Given the description of an element on the screen output the (x, y) to click on. 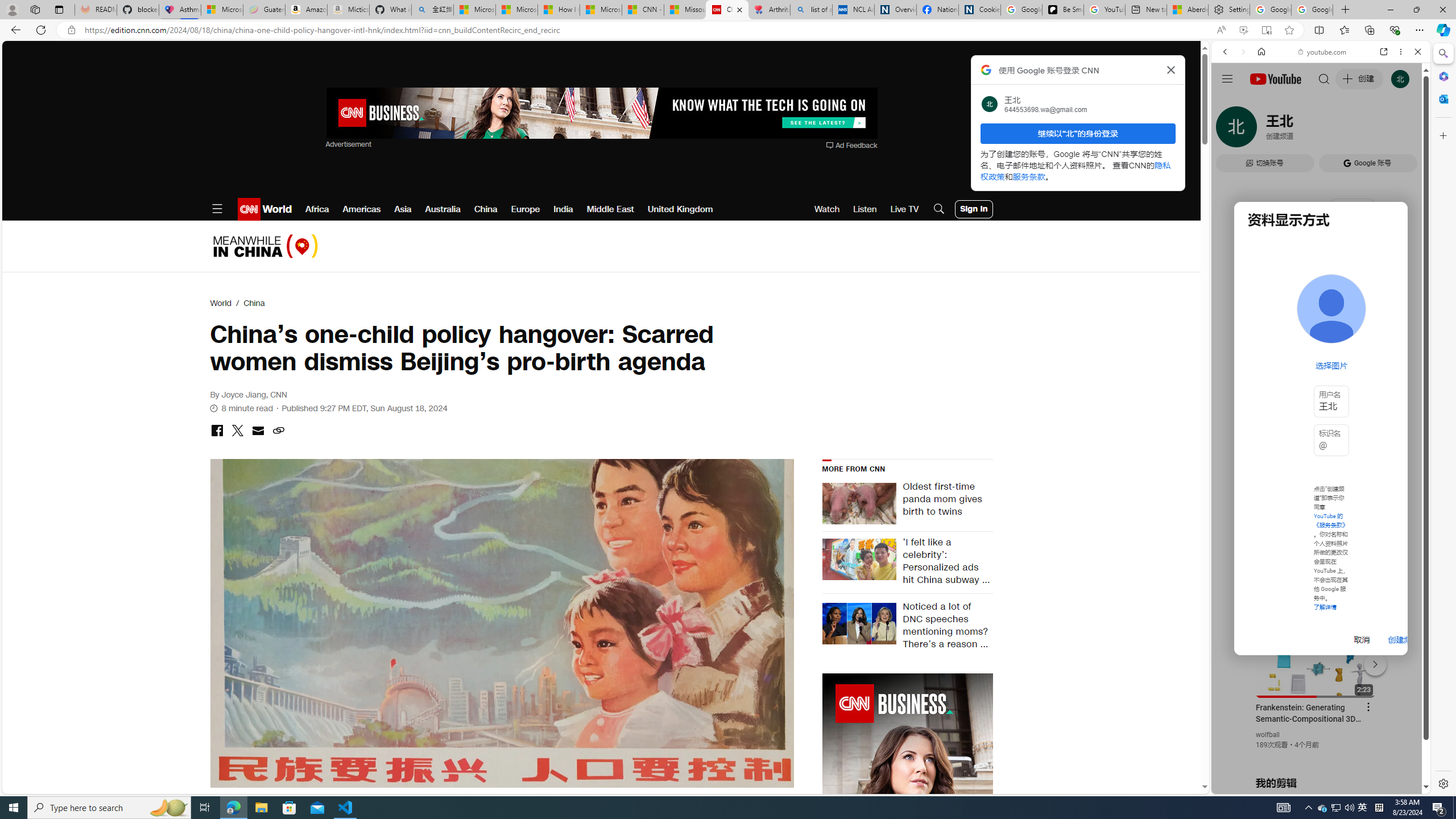
Show More Music (1390, 310)
Search videos from youtube.com (1299, 373)
SEARCH TOOLS (1350, 130)
Meanwhile in China (264, 245)
Google (1320, 281)
